Given the description of an element on the screen output the (x, y) to click on. 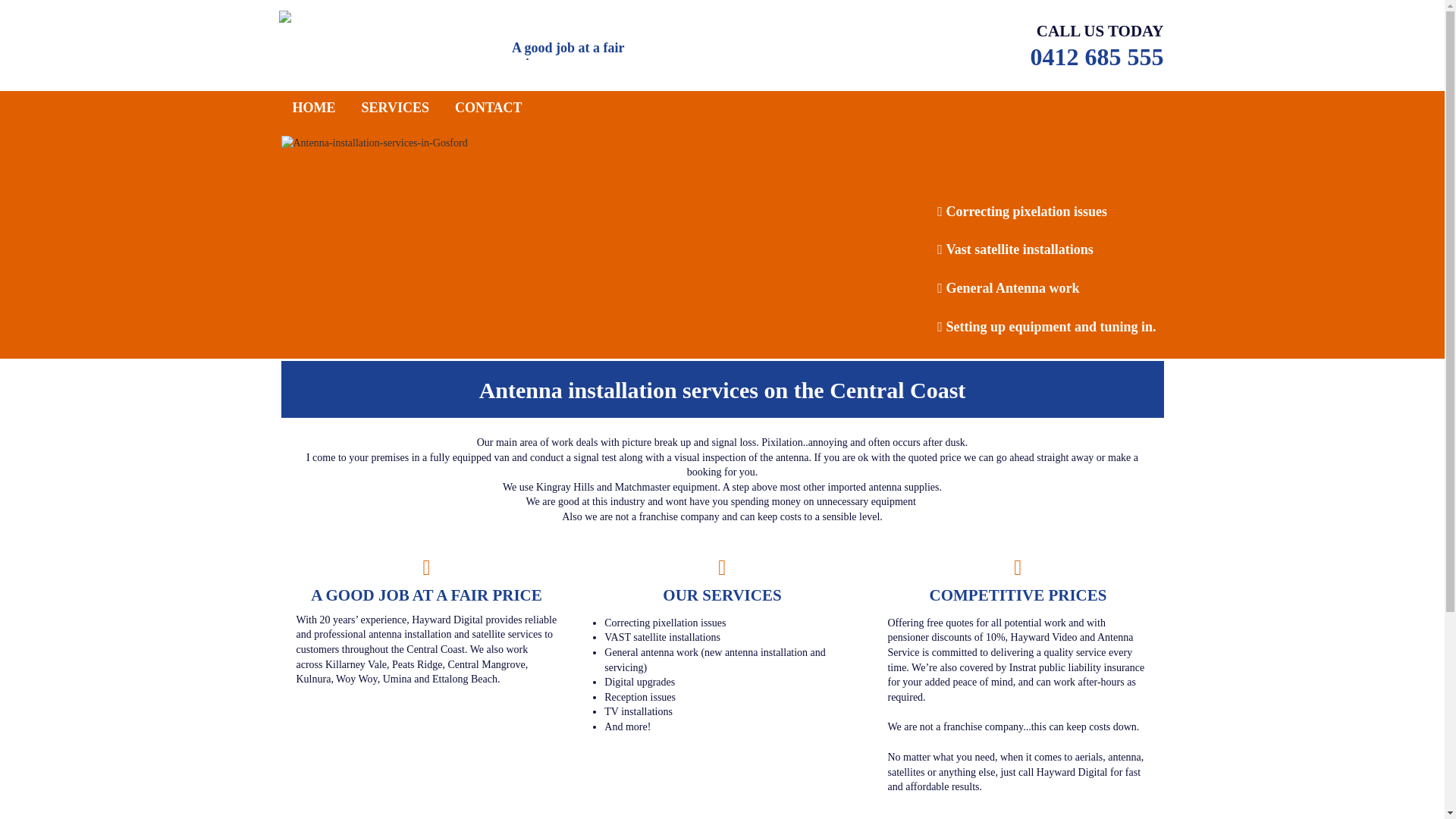
0412 685 555 Element type: text (1096, 56)
HOME Element type: text (313, 107)
SERVICES Element type: text (394, 107)
Antenna-installation-services-in-Gosford Element type: hover (721, 245)
CONTACT Element type: text (488, 107)
